Given the description of an element on the screen output the (x, y) to click on. 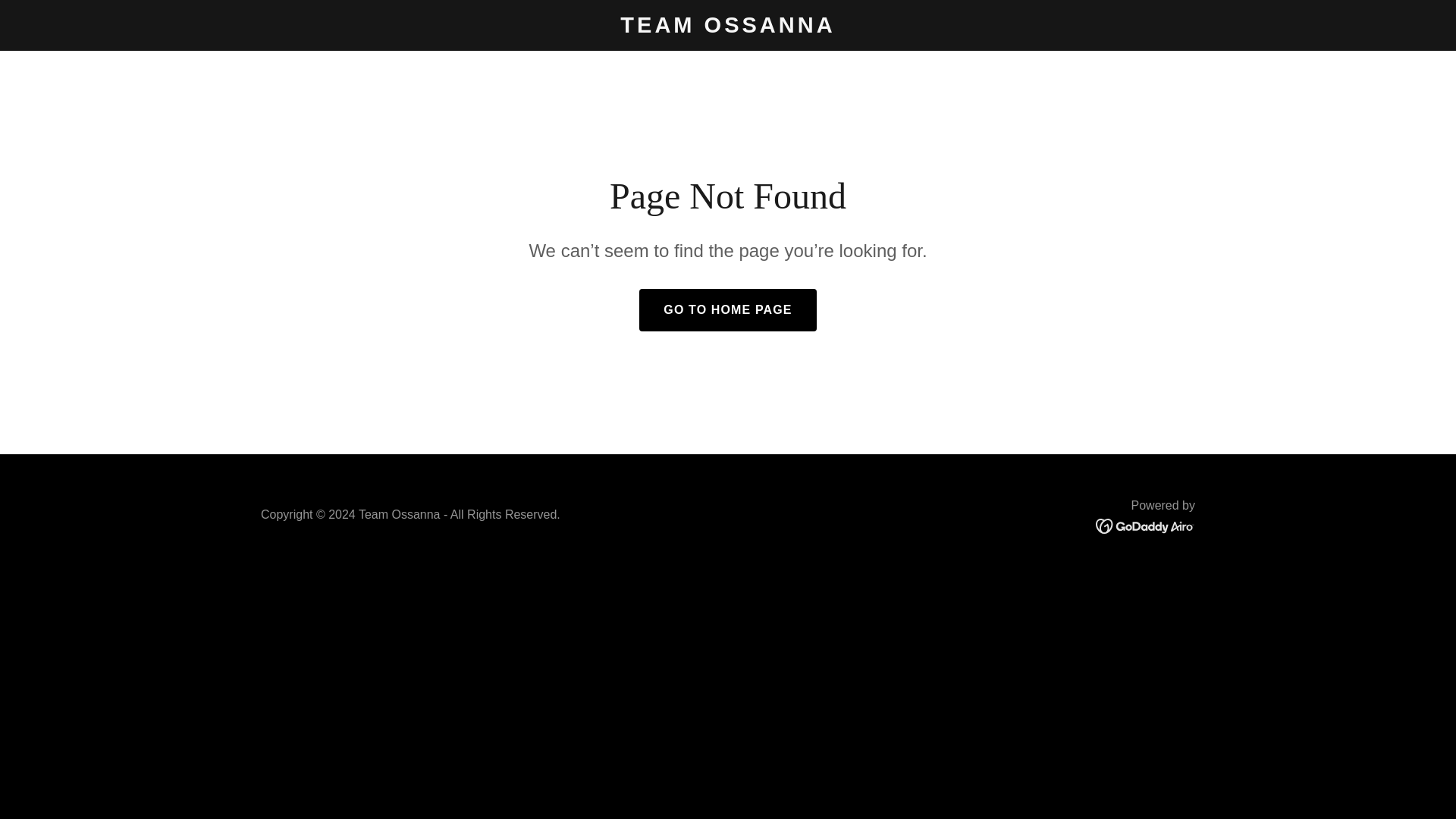
Team Ossanna (727, 28)
GO TO HOME PAGE (727, 310)
TEAM OSSANNA (727, 28)
